Given the description of an element on the screen output the (x, y) to click on. 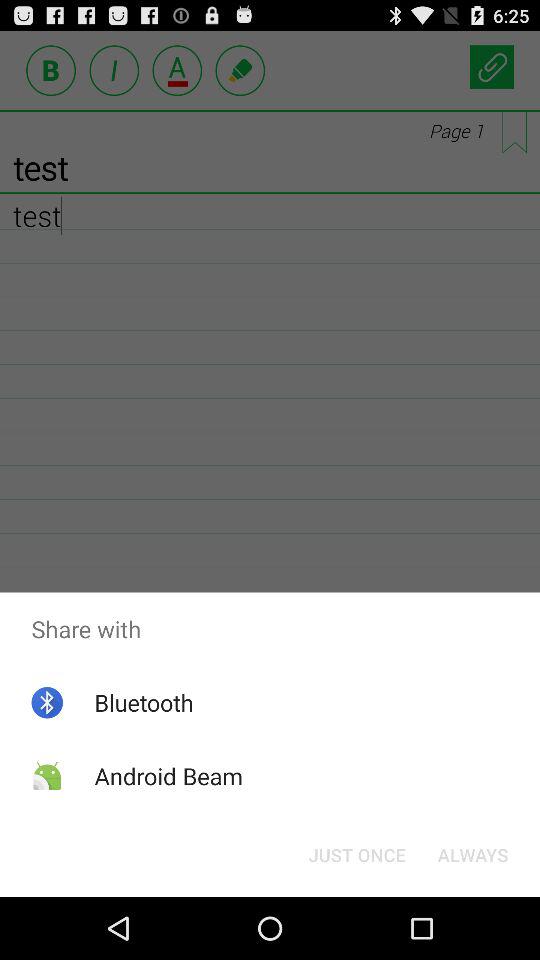
swipe until the android beam app (168, 775)
